Given the description of an element on the screen output the (x, y) to click on. 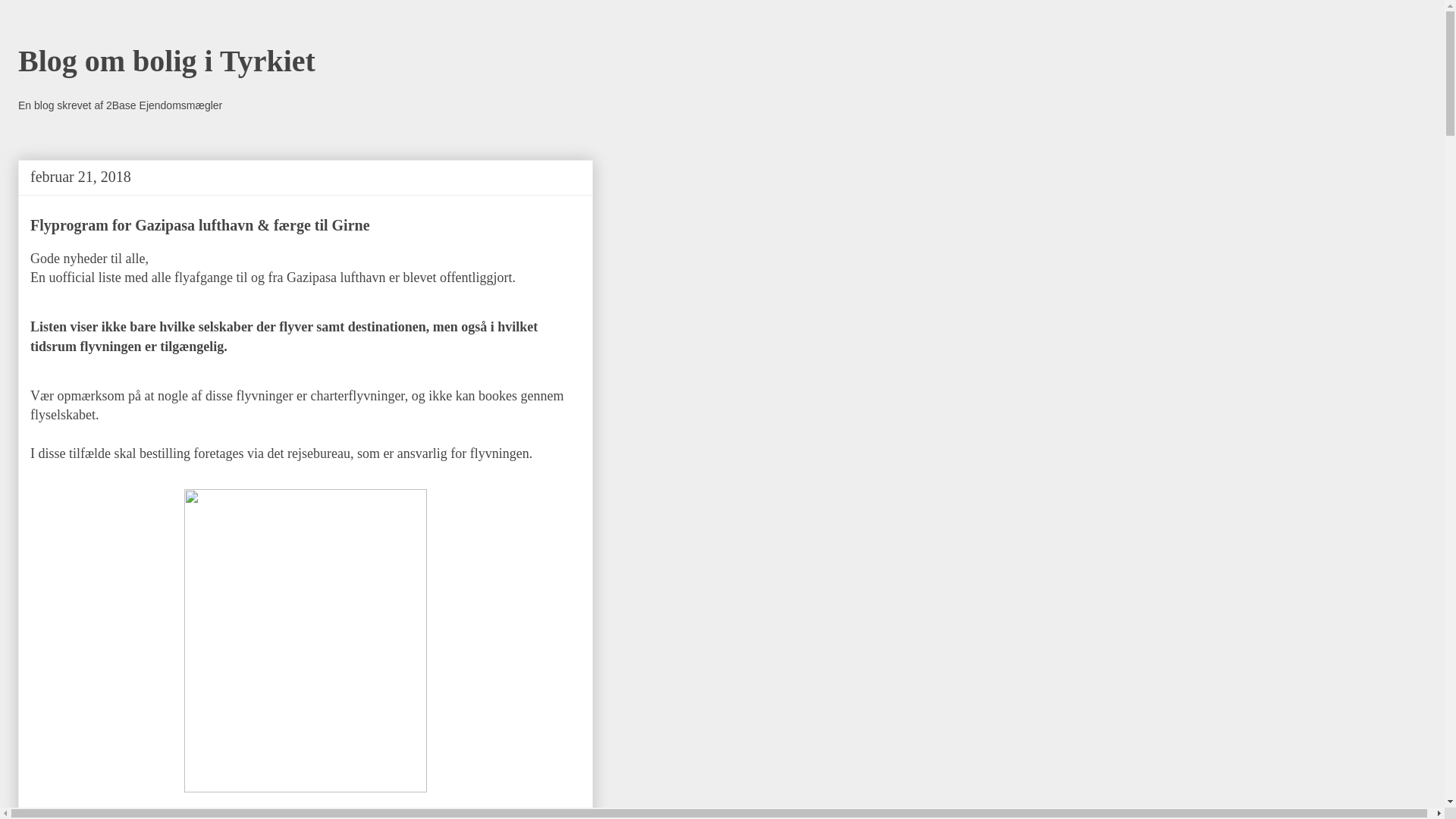
Blog om bolig i Tyrkiet Element type: text (166, 60)
